Given the description of an element on the screen output the (x, y) to click on. 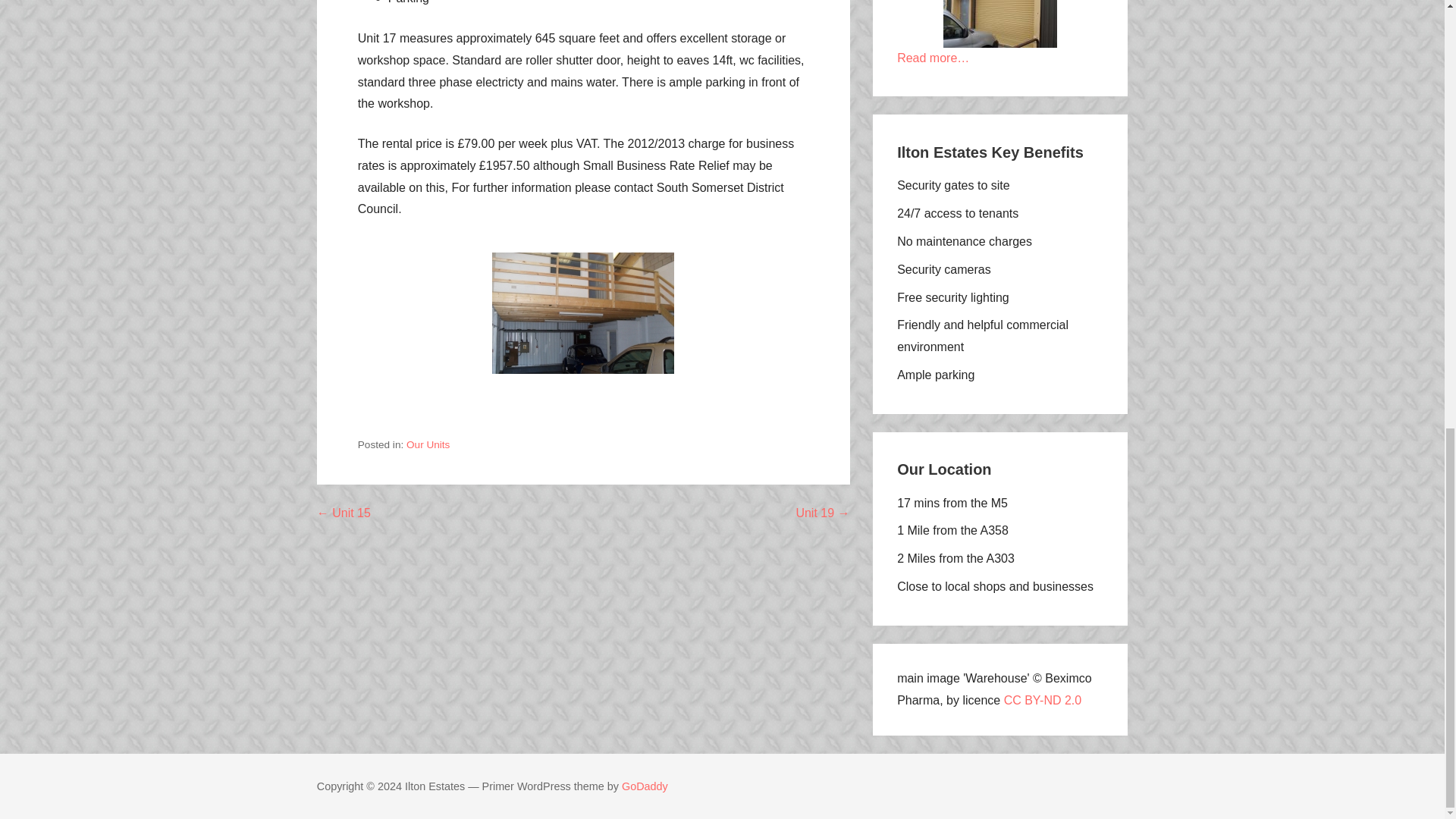
Our Units (427, 444)
GoDaddy (644, 786)
CC BY-ND 2.0 (1042, 699)
